Given the description of an element on the screen output the (x, y) to click on. 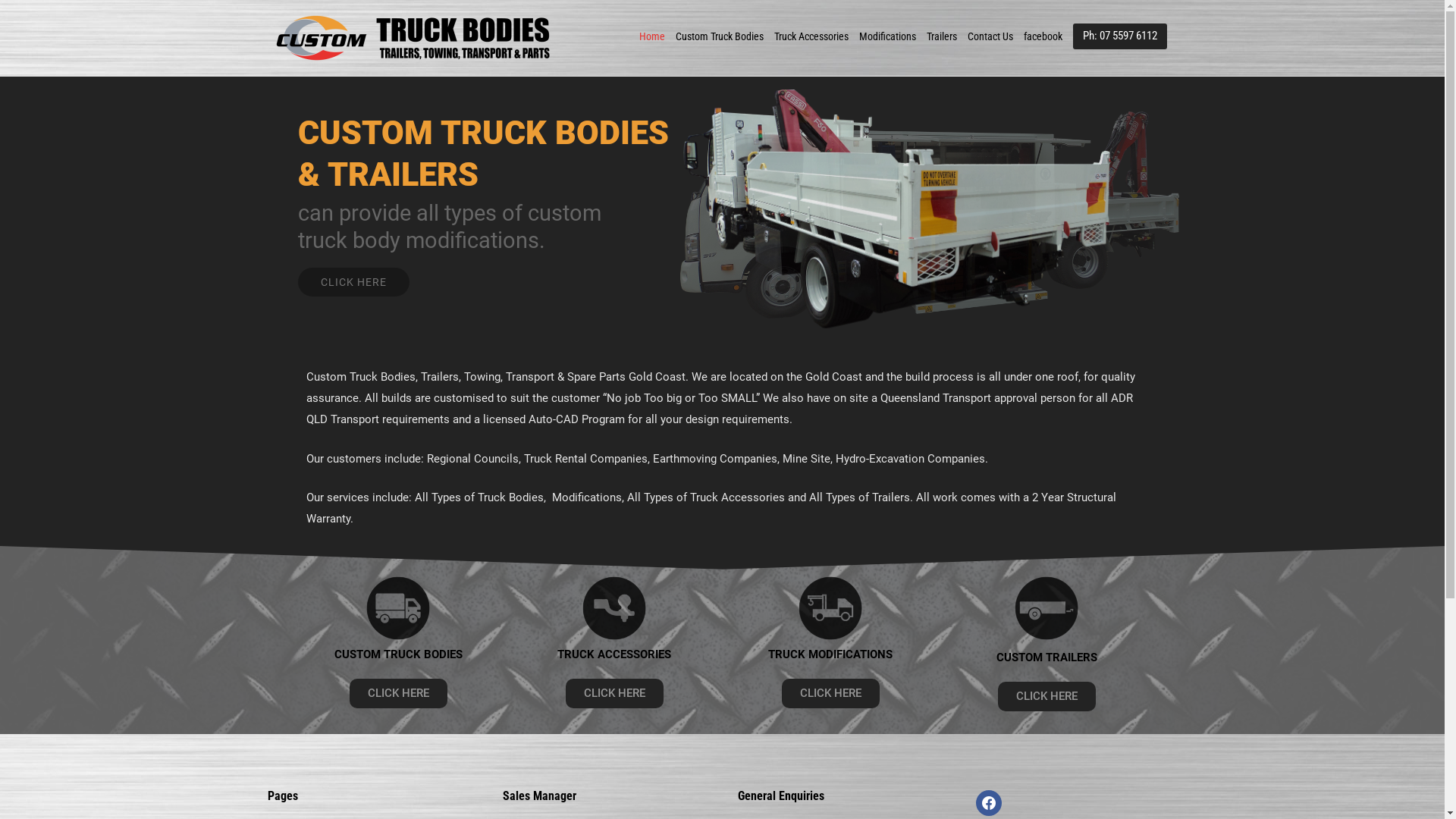
Home Element type: text (656, 36)
Modifications Element type: text (891, 36)
CLICK HERE Element type: text (829, 693)
CLICK HERE Element type: text (353, 281)
Ph: 07 5597 6112 Element type: text (1119, 36)
Custom Truck Bodies Element type: text (723, 36)
Trailers Element type: text (946, 36)
CLICK HERE Element type: text (1046, 696)
CLICK HERE Element type: text (397, 693)
CLICK HERE Element type: text (614, 693)
Contact Us Element type: text (995, 36)
Truck Accessories Element type: text (815, 36)
facebook Element type: text (1048, 36)
